Given the description of an element on the screen output the (x, y) to click on. 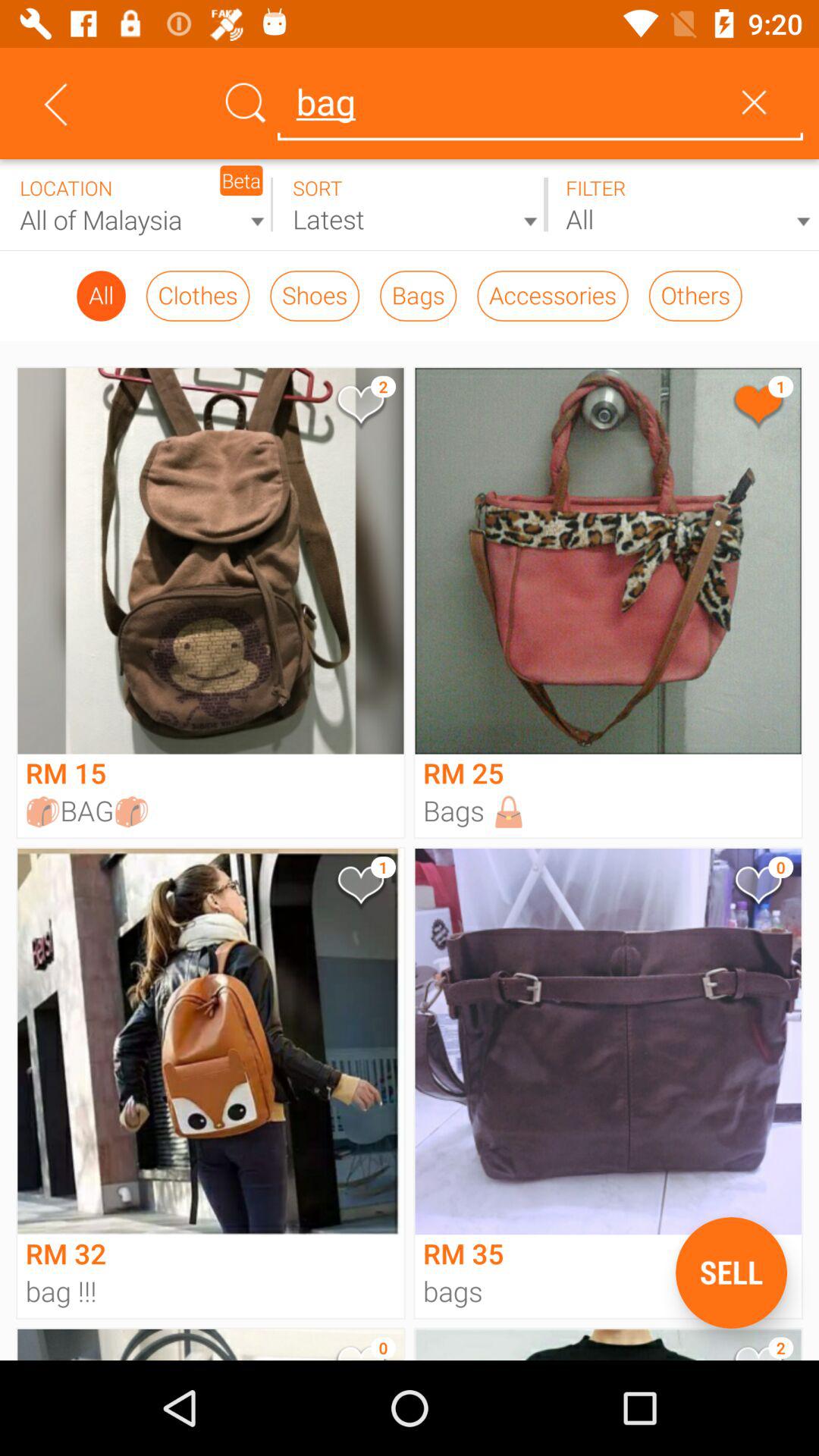
favorite product (359, 888)
